Given the description of an element on the screen output the (x, y) to click on. 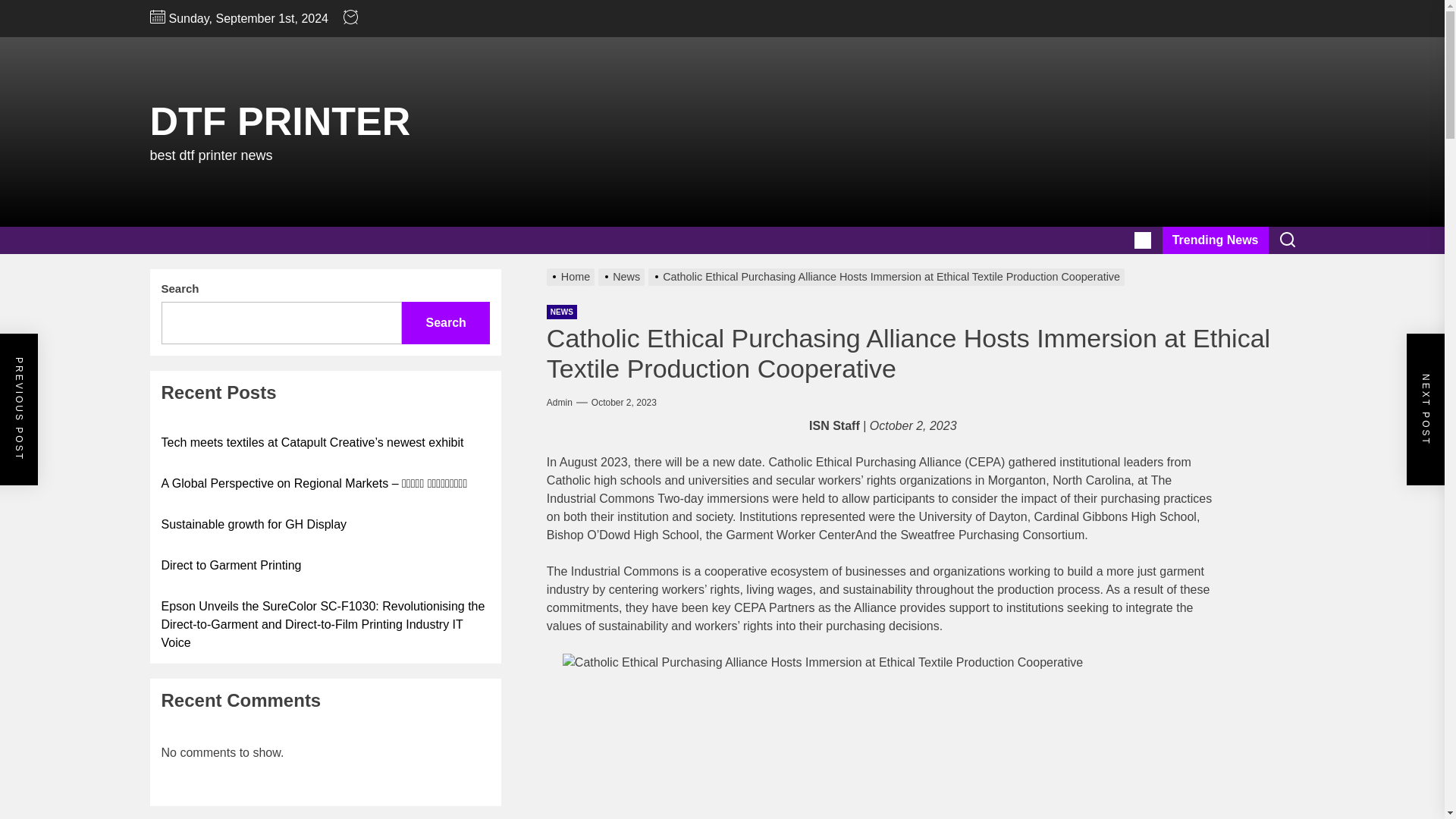
News (622, 276)
NEWS (561, 311)
Trending News (1214, 239)
DTF PRINTER (279, 120)
Home (572, 276)
